Given the description of an element on the screen output the (x, y) to click on. 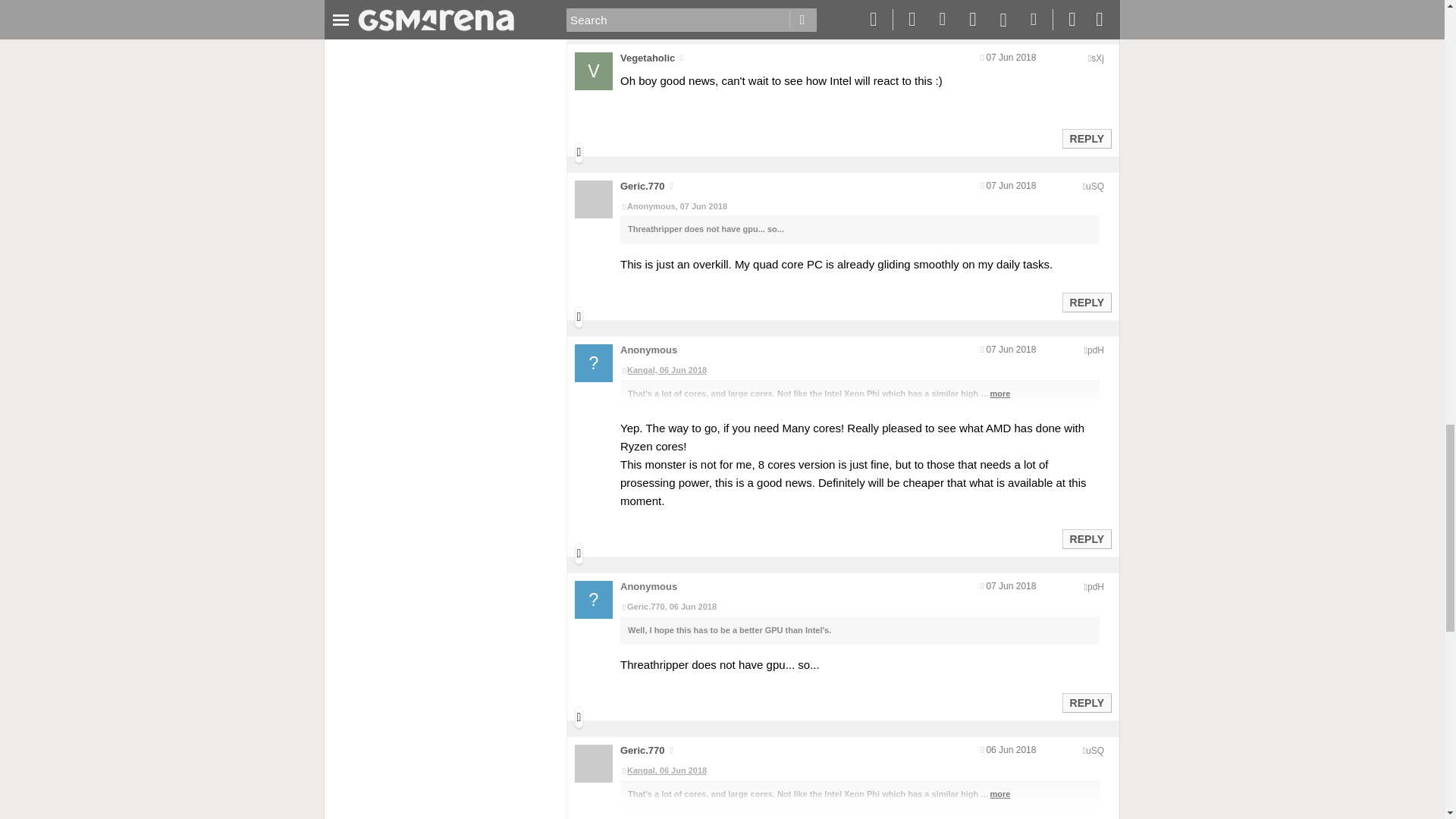
Reply to this post (1086, 302)
Reply to this post (1086, 10)
Encoded anonymized location (1095, 349)
Reply to this post (1086, 138)
Encoded anonymized location (1094, 185)
Encoded anonymized location (1096, 58)
